Given the description of an element on the screen output the (x, y) to click on. 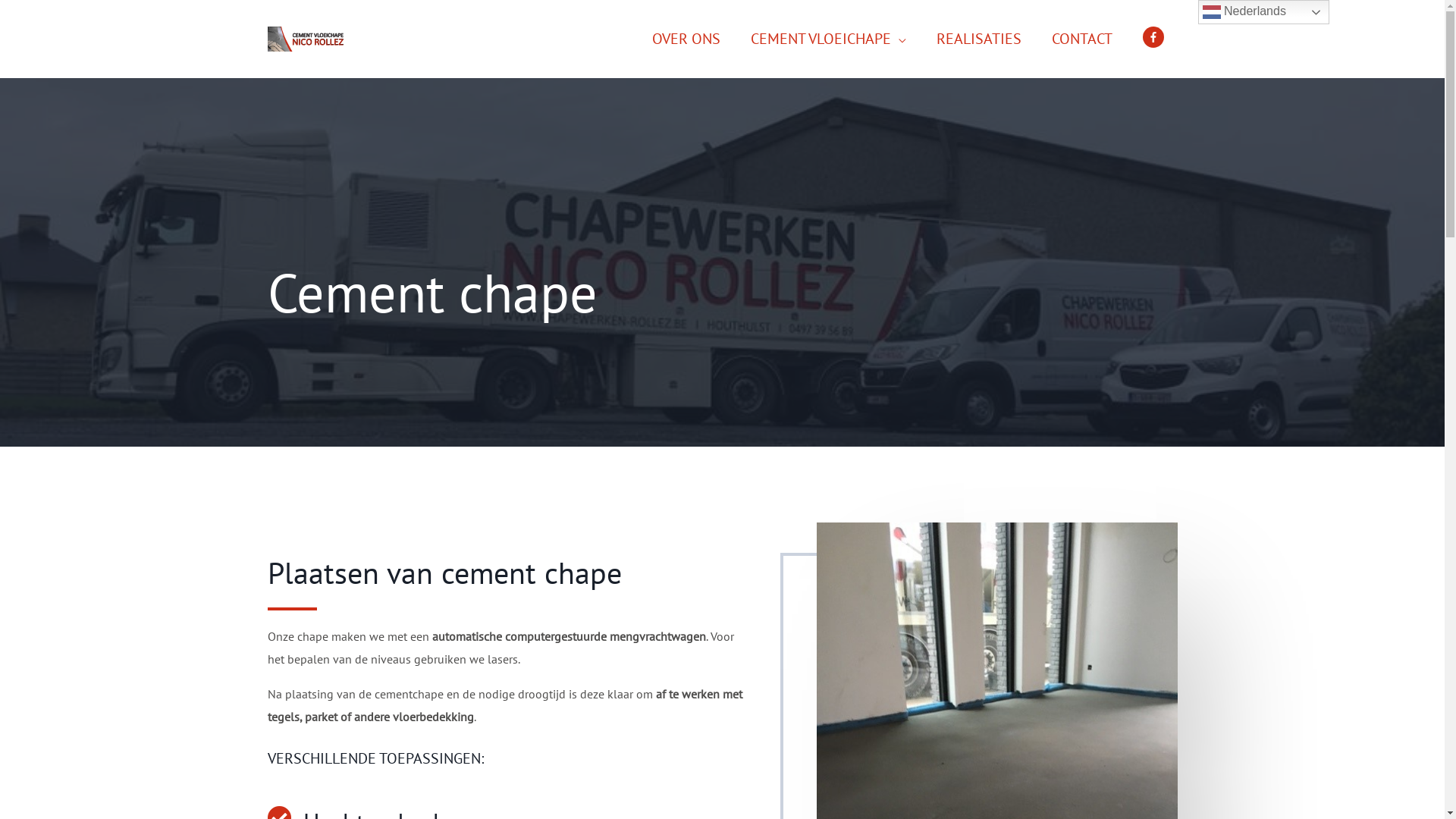
CEMENT VLOEICHAPE Element type: text (828, 38)
Nederlands Element type: text (1263, 12)
OVER ONS Element type: text (686, 38)
CONTACT Element type: text (1080, 38)
REALISATIES Element type: text (977, 38)
